Given the description of an element on the screen output the (x, y) to click on. 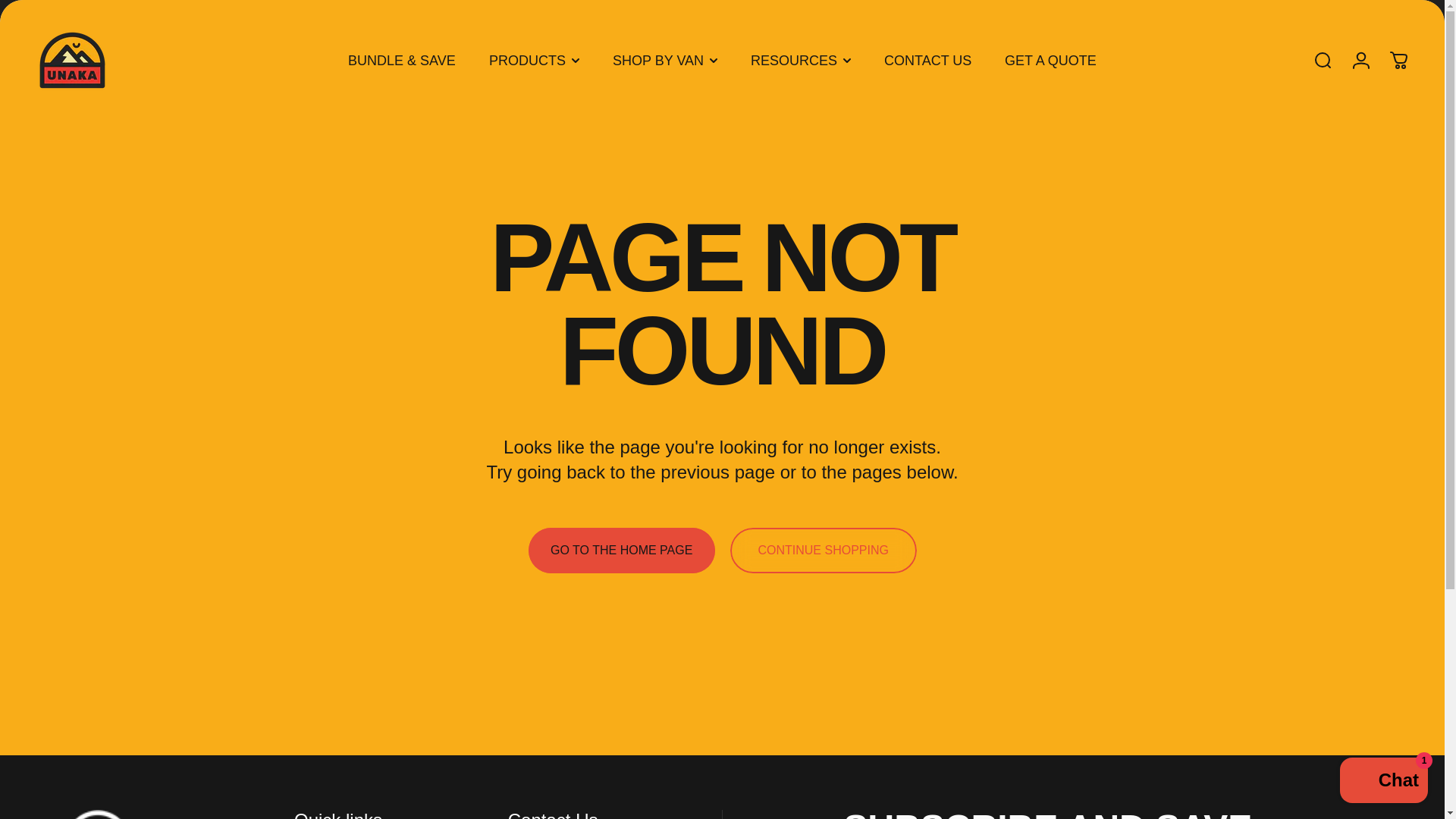
CONTINUE SHOPPING (822, 550)
Facebook (1299, 7)
Instagram (1333, 7)
Unaka Gear Co. on Facebook (1299, 7)
CONTACT US (928, 60)
Cart (1398, 60)
GET A QUOTE (1051, 60)
Unaka Gear Co. (71, 60)
Unaka Gear Co. on Pinterest (1400, 7)
Pinterest (1400, 7)
Search (1322, 60)
Login (1360, 60)
YouTube (1366, 7)
Unaka Gear Co. on Instagram (1333, 7)
GO TO THE HOME PAGE (620, 550)
